Given the description of an element on the screen output the (x, y) to click on. 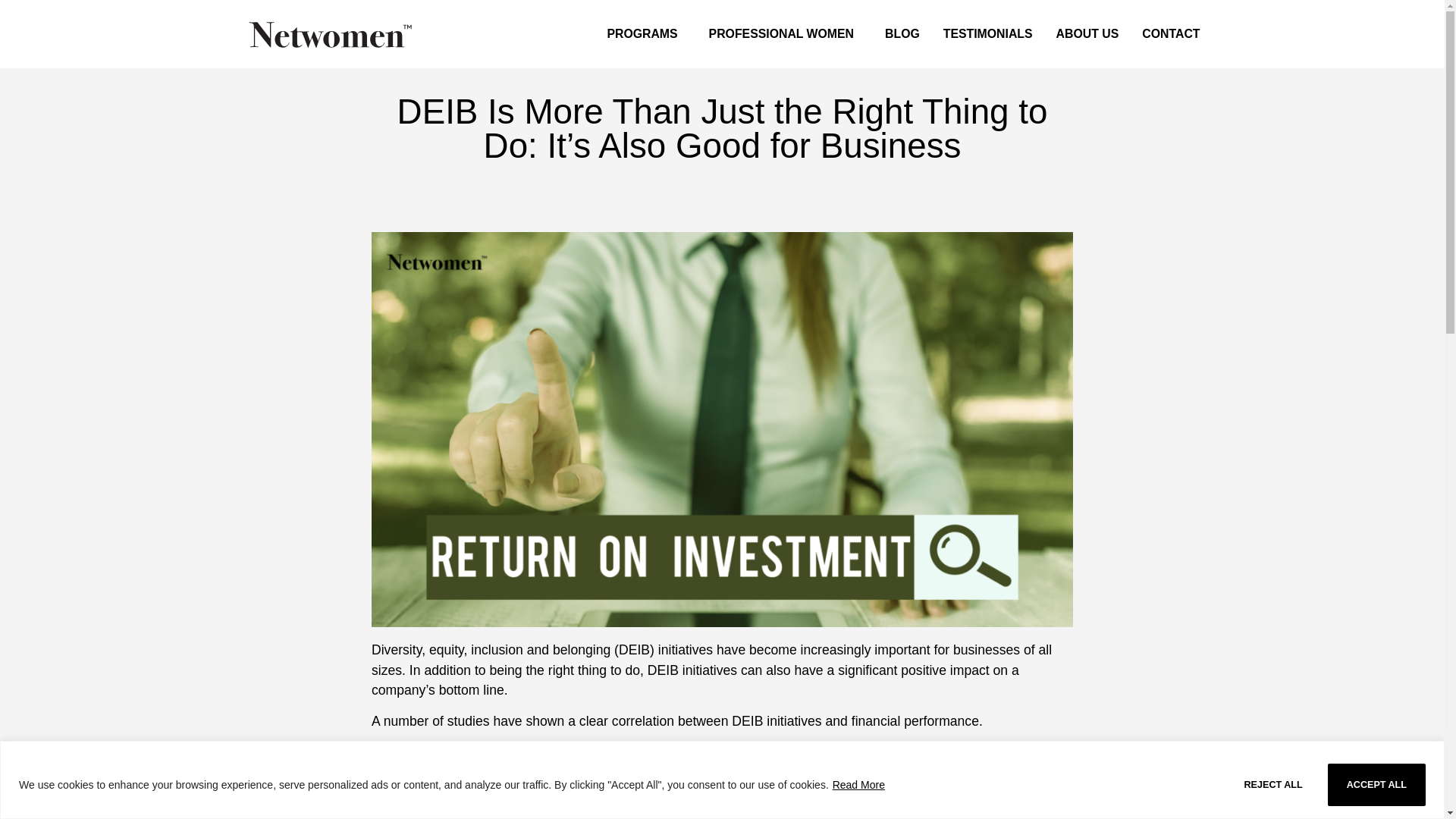
Read More (858, 784)
BLOG (902, 33)
CONTACT (1170, 33)
ACCEPT ALL (1376, 783)
ABOUT US (1088, 33)
TESTIMONIALS (987, 33)
PROGRAMS (645, 33)
PROFESSIONAL WOMEN (785, 33)
REJECT ALL (1273, 783)
